Given the description of an element on the screen output the (x, y) to click on. 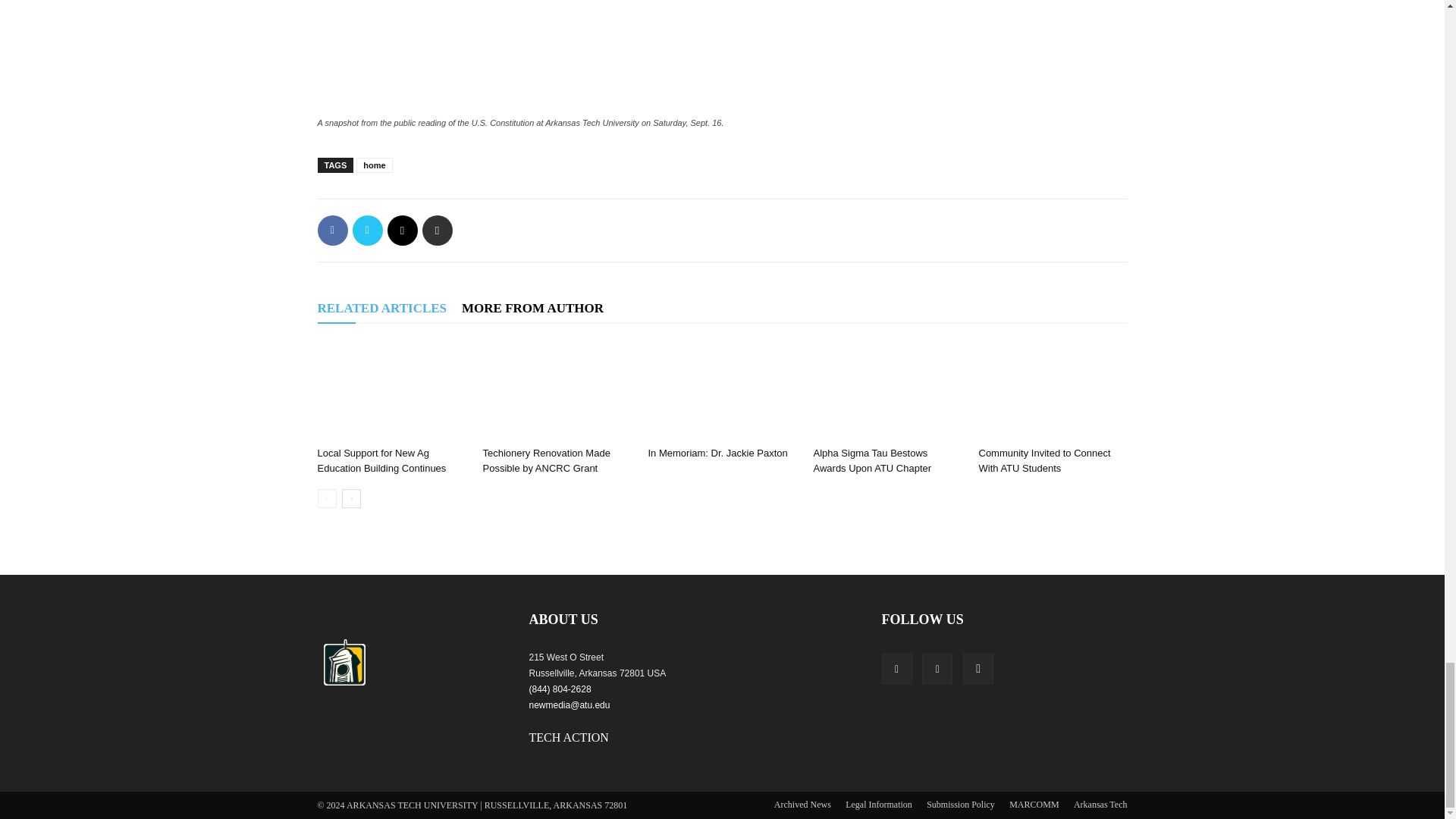
Print (436, 230)
Techionery Renovation Made Possible by ANCRC Grant (555, 390)
Facebook (332, 230)
Email (401, 230)
Local Support for New Ag Education Building Continues (381, 460)
Twitter (366, 230)
Local Support for New Ag Education Building Continues (391, 390)
